Given the description of an element on the screen output the (x, y) to click on. 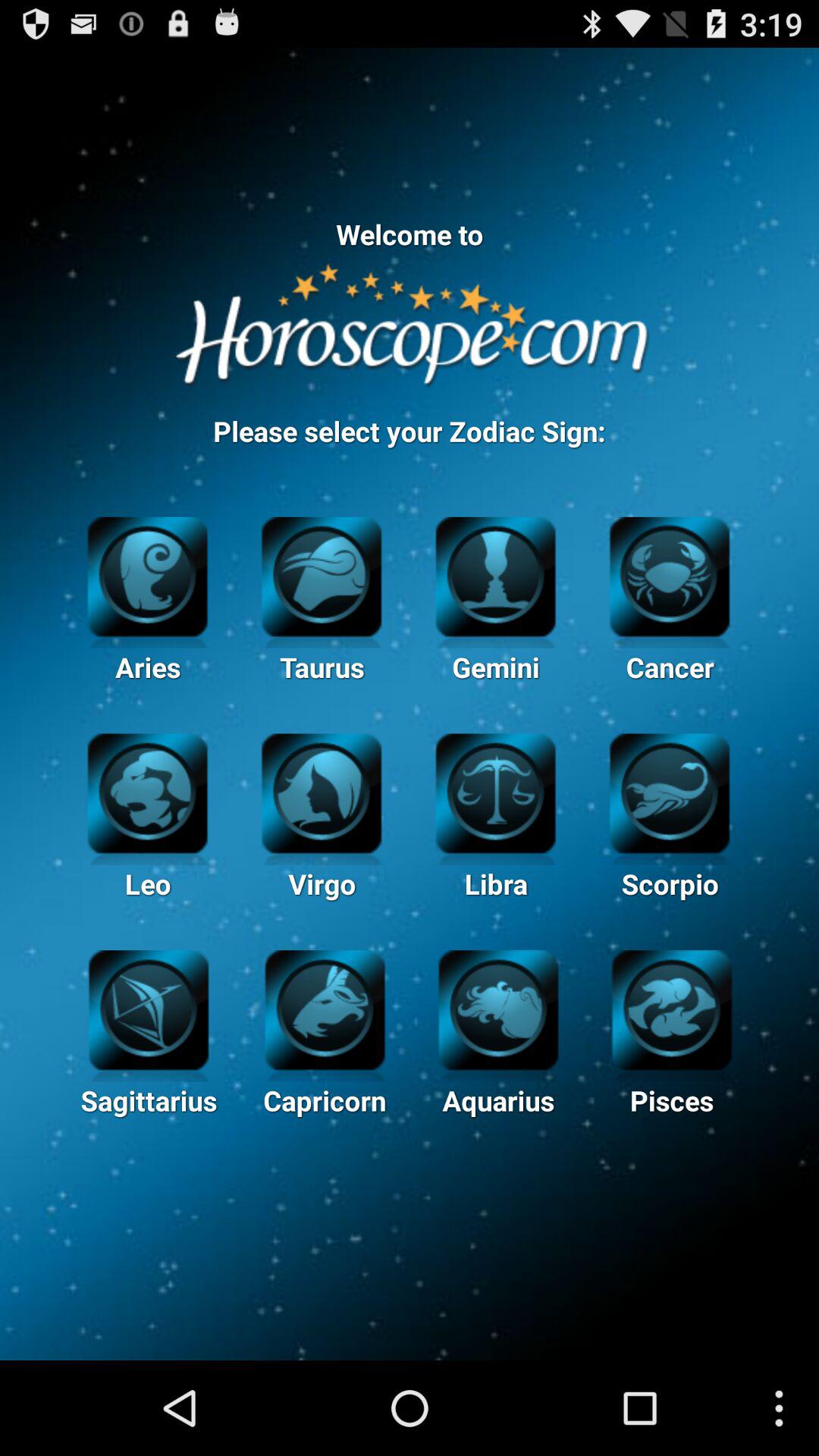
go to virgo (321, 791)
